Given the description of an element on the screen output the (x, y) to click on. 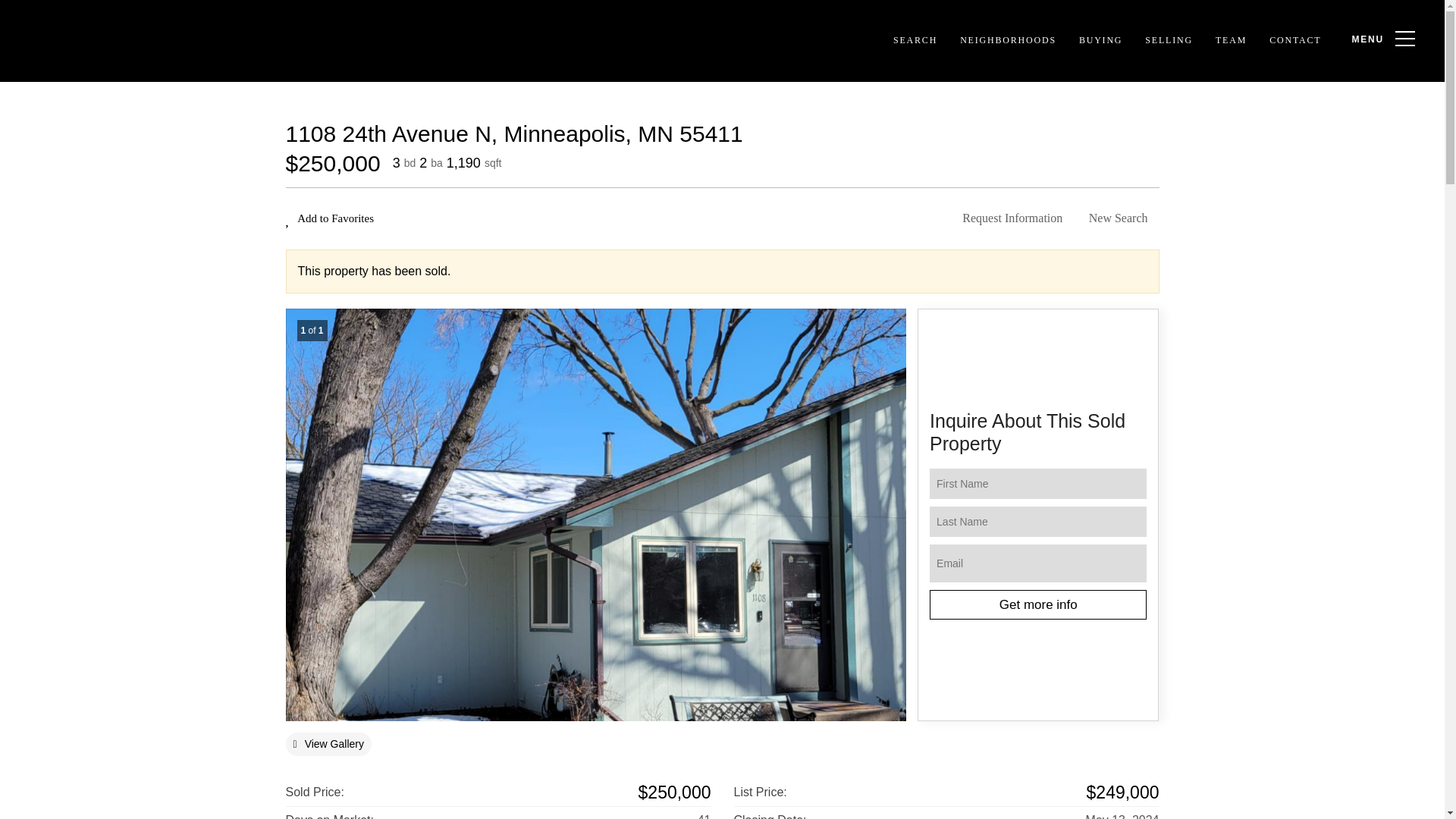
NEIGHBORHOODS (1008, 40)
SEARCH (915, 40)
CONTACT (1294, 40)
BUYING (1100, 40)
TEAM (1230, 40)
SELLING (1169, 40)
MENU (1379, 39)
